Given the description of an element on the screen output the (x, y) to click on. 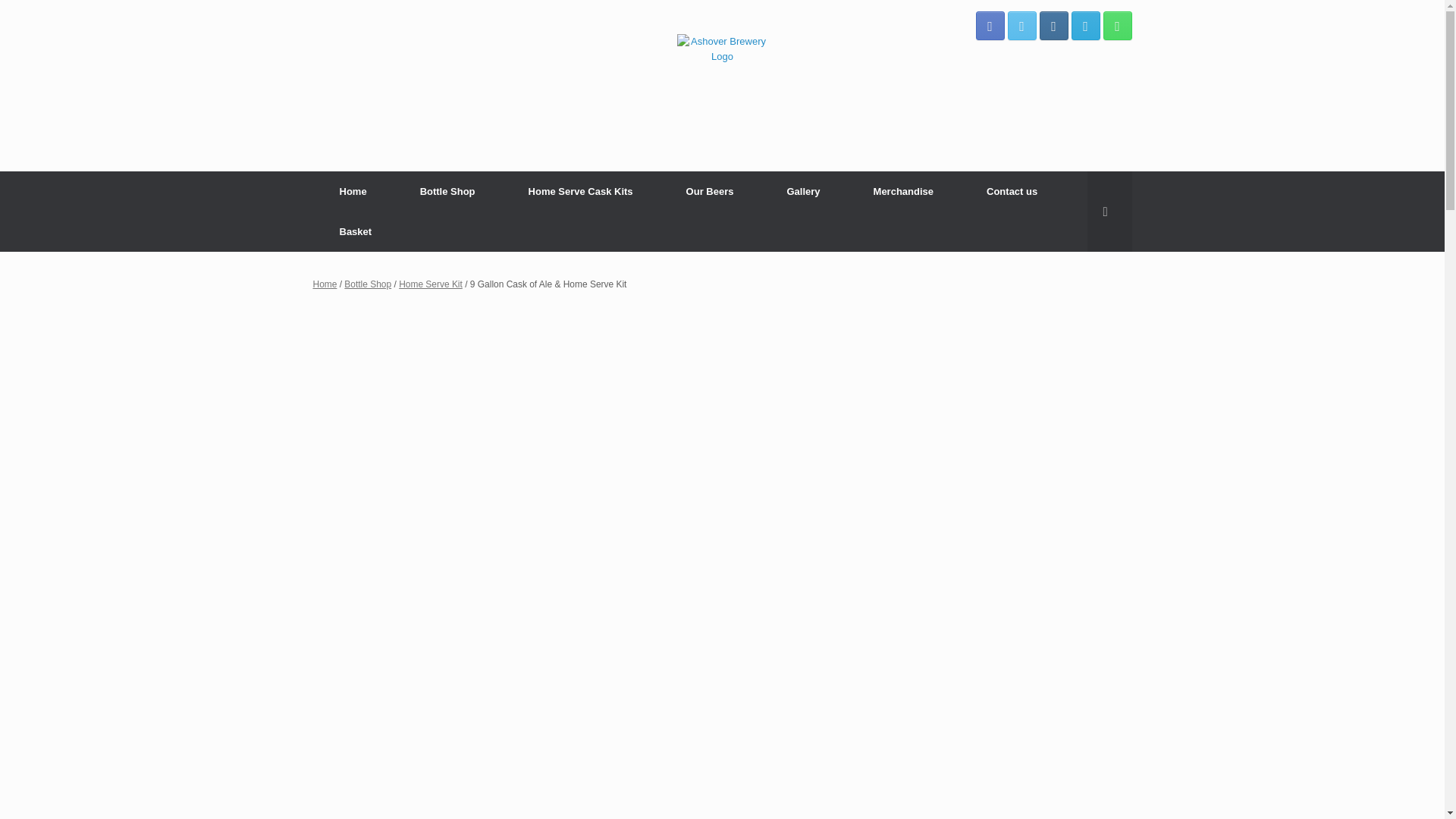
Ashover Brewery Phone (1116, 25)
Home (324, 284)
Ashover Brewery Facebook (989, 25)
Bottle Shop (447, 191)
Ashover Brewery E-mail (1084, 25)
Ashover Brewery Twitter (1021, 25)
Home Serve Cask Kits (580, 191)
Ashover Brewery (722, 85)
Home Serve Kit (430, 284)
Merchandise (903, 191)
Ashover Brewery Instagram (1053, 25)
Our Beers (709, 191)
Gallery (802, 191)
Contact us (1011, 191)
Basket (355, 231)
